Given the description of an element on the screen output the (x, y) to click on. 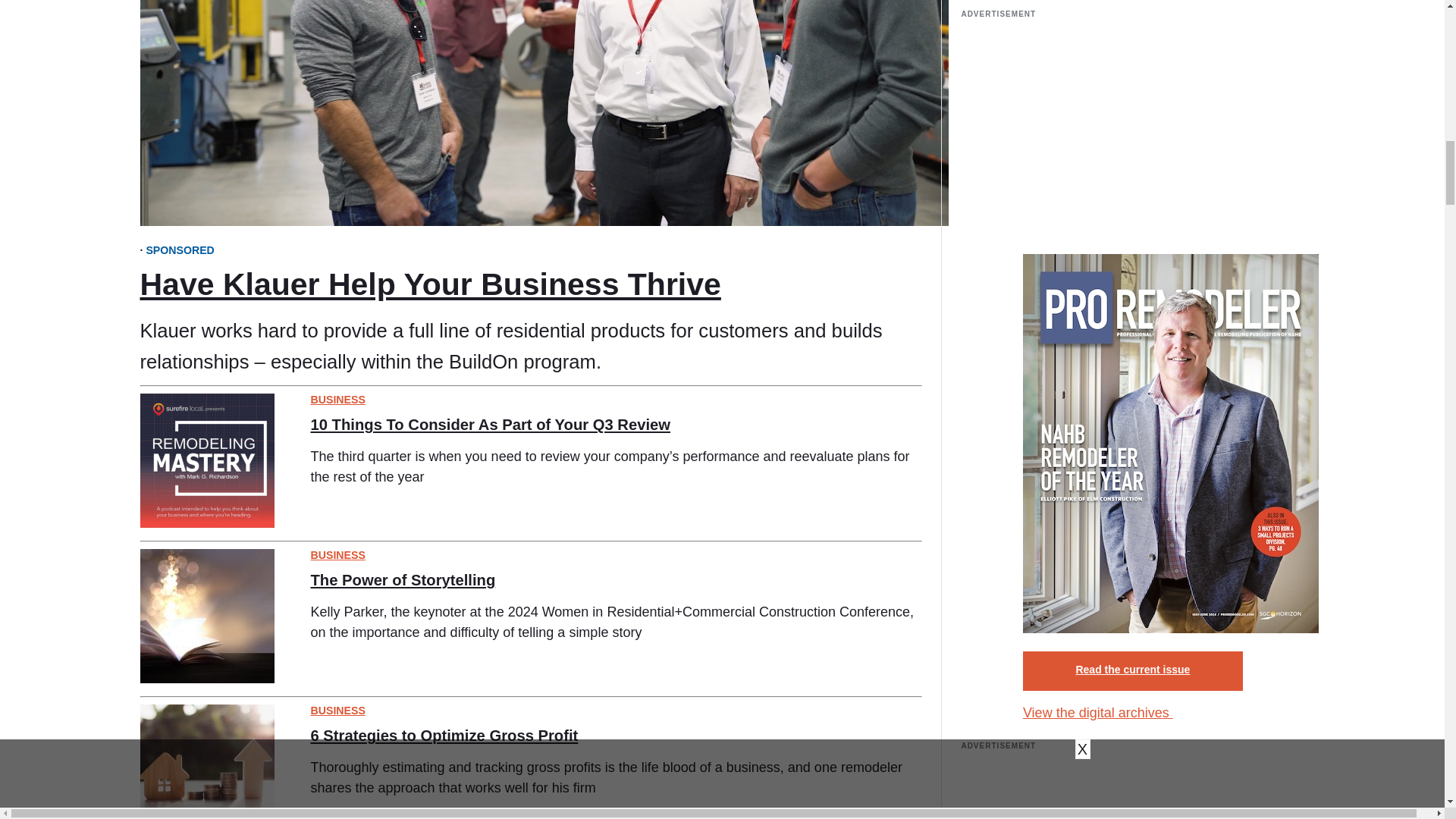
Photo Credit: Adobe (206, 615)
3rd party ad content (1132, 128)
3rd party ad content (1132, 792)
Photo Credit: Adobe  (206, 761)
